Given the description of an element on the screen output the (x, y) to click on. 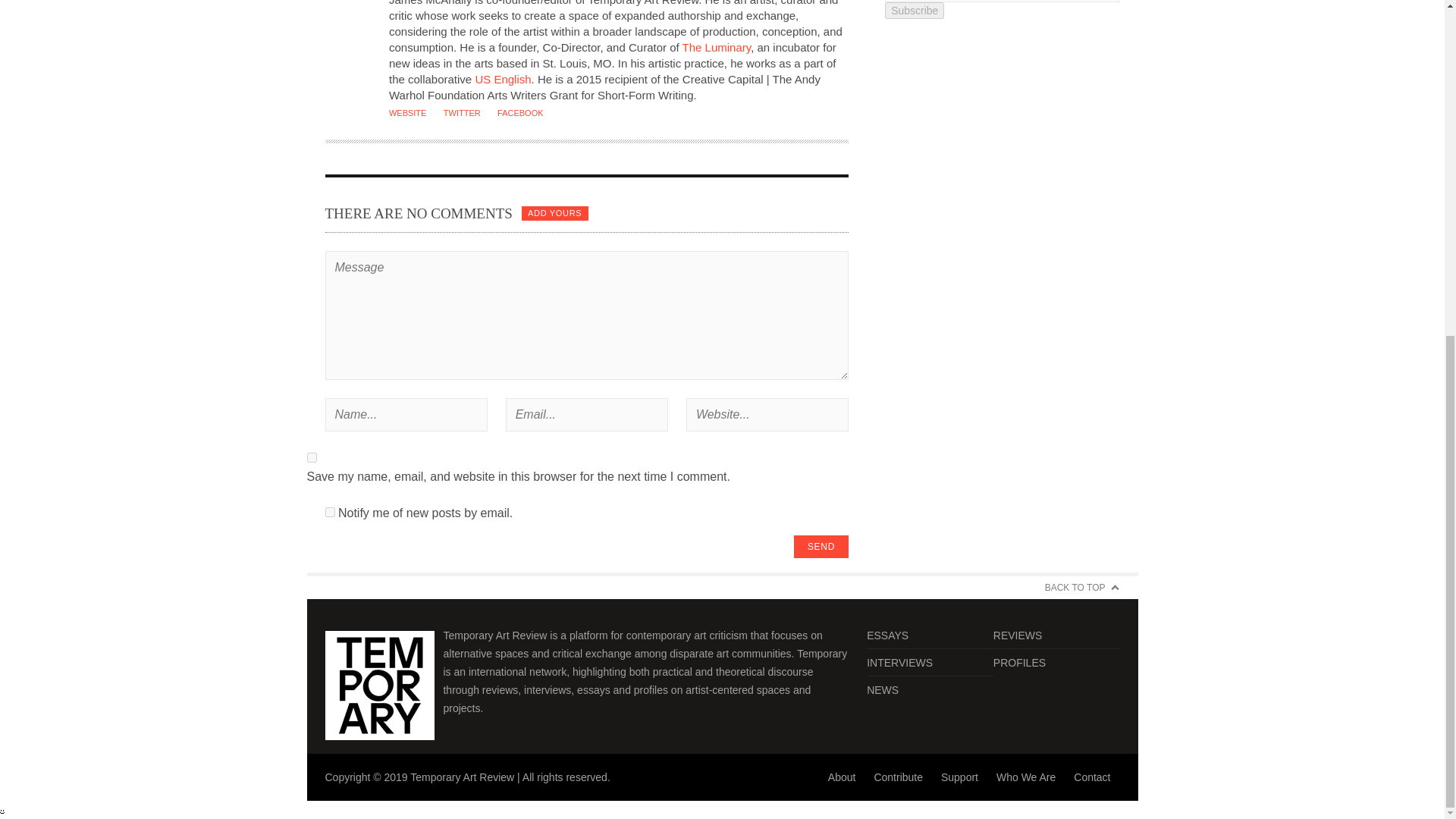
Subscribe (914, 10)
subscribe (329, 511)
Send (820, 546)
yes (310, 457)
